Given the description of an element on the screen output the (x, y) to click on. 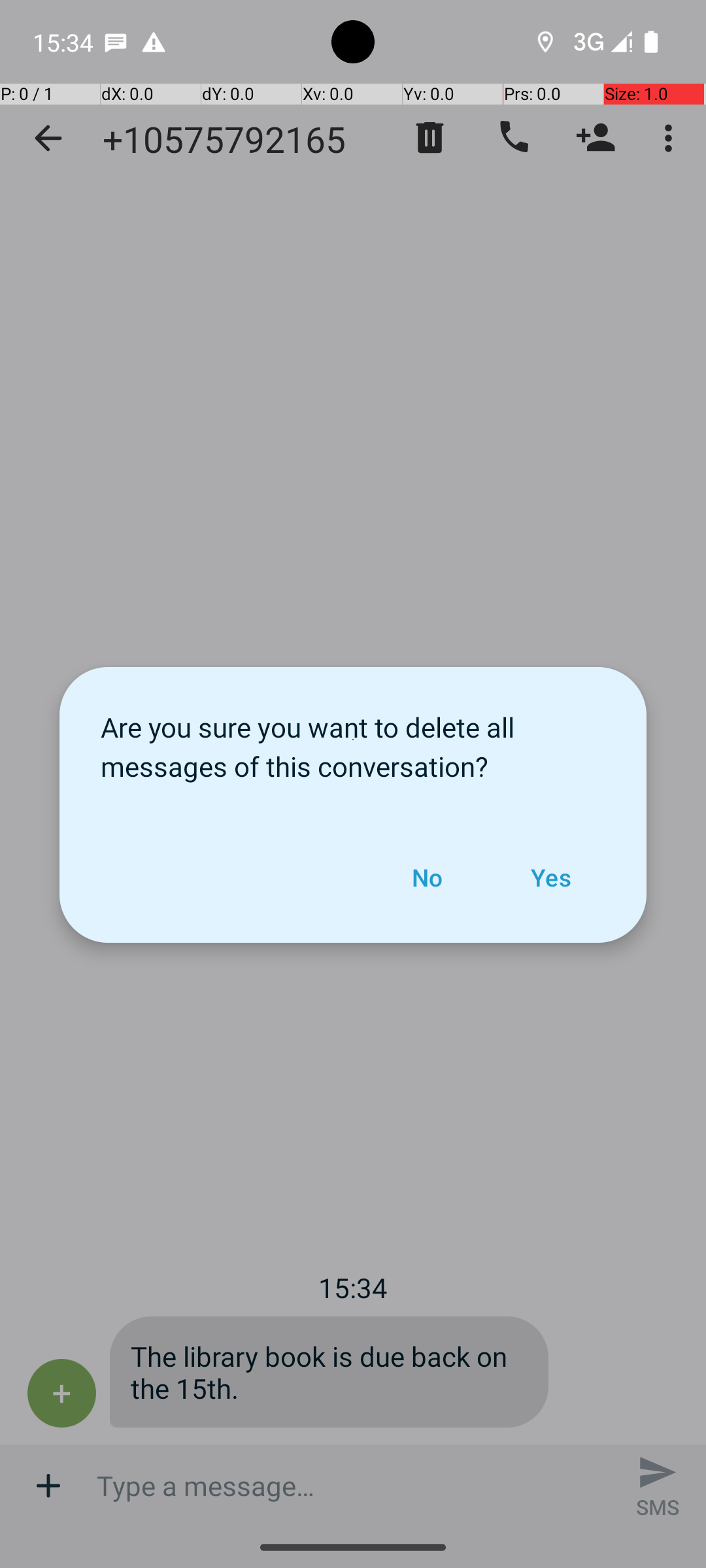
Are you sure you want to delete all messages of this conversation? Element type: android.widget.TextView (352, 739)
No Element type: android.widget.Button (426, 877)
Yes Element type: android.widget.Button (550, 877)
